Given the description of an element on the screen output the (x, y) to click on. 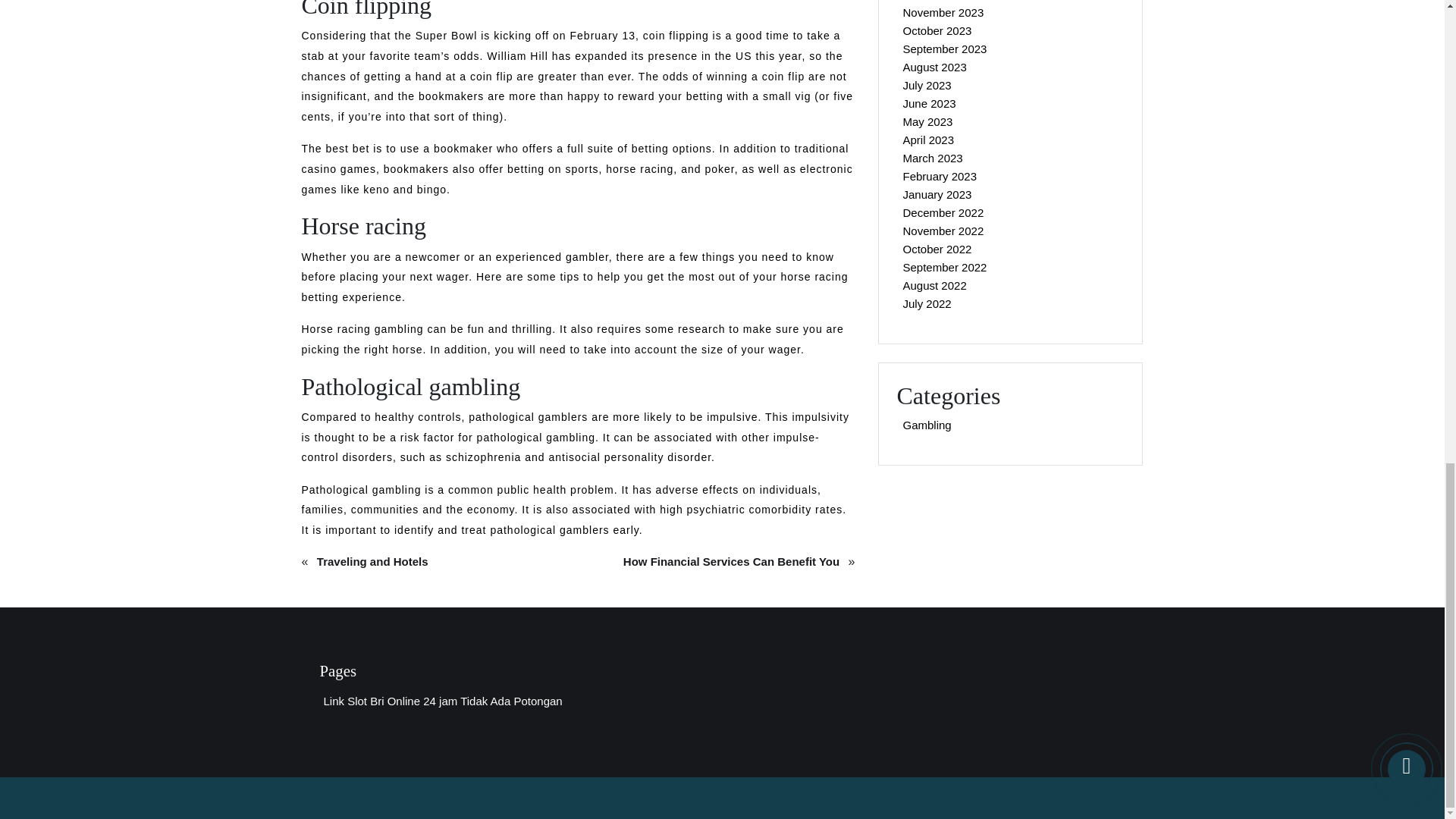
September 2022 (944, 267)
July 2022 (926, 303)
September 2023 (944, 48)
August 2023 (934, 66)
February 2023 (939, 176)
March 2023 (932, 157)
How Financial Services Can Benefit You (730, 561)
October 2023 (936, 30)
May 2023 (927, 121)
July 2023 (926, 84)
November 2022 (943, 230)
November 2023 (943, 12)
Gambling (926, 424)
June 2023 (928, 103)
October 2022 (936, 248)
